Given the description of an element on the screen output the (x, y) to click on. 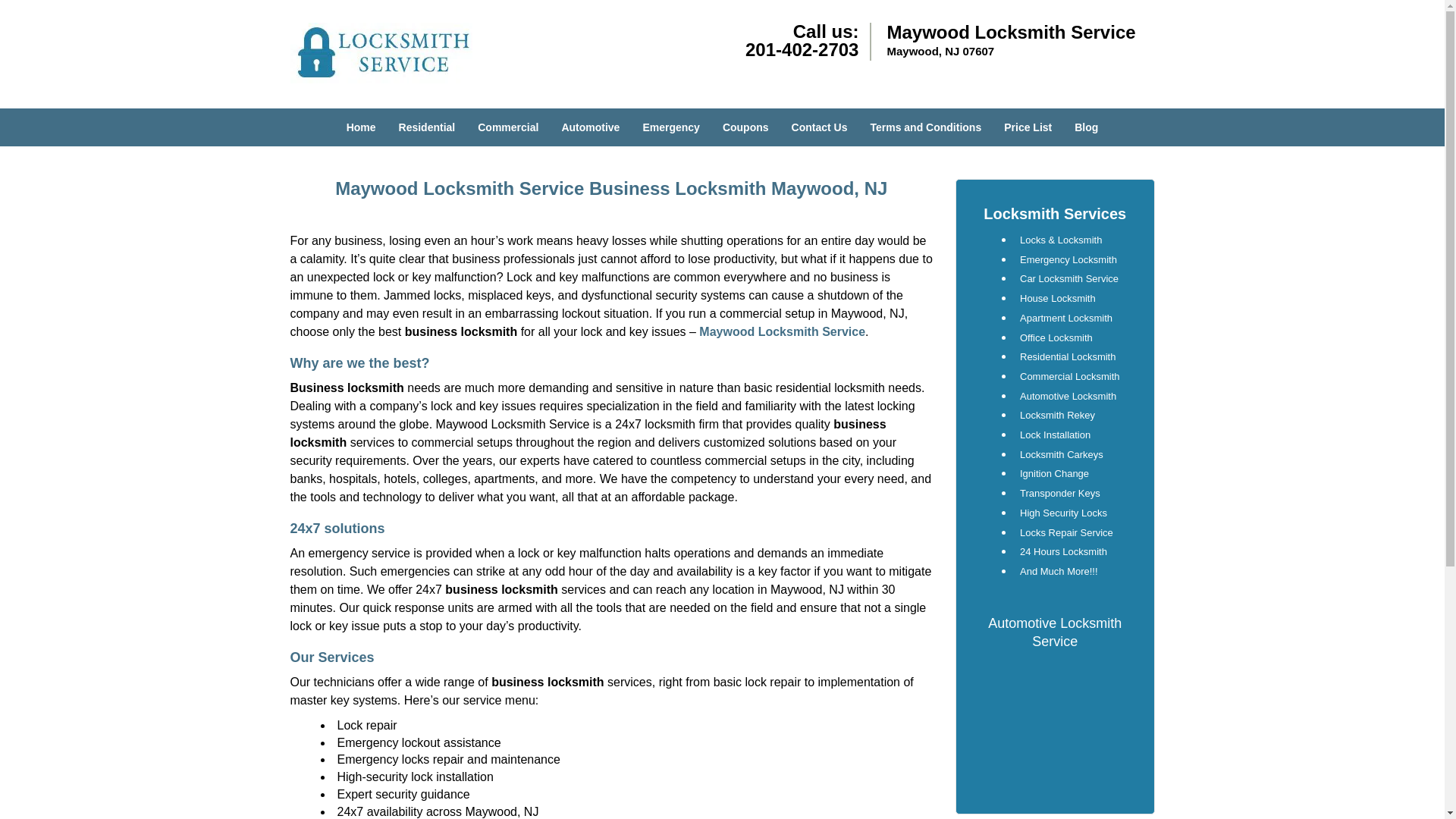
Residential (427, 127)
Commercial (507, 127)
Terms and Conditions (925, 127)
Maywood Locksmith Service (781, 331)
Contact Us (819, 127)
Blog (1085, 127)
Emergency (670, 127)
Automotive Locksmith Service (1054, 632)
201-402-2703 (802, 49)
Coupons (745, 127)
Automotive (590, 127)
Home (360, 127)
Price List (1027, 127)
